Given the description of an element on the screen output the (x, y) to click on. 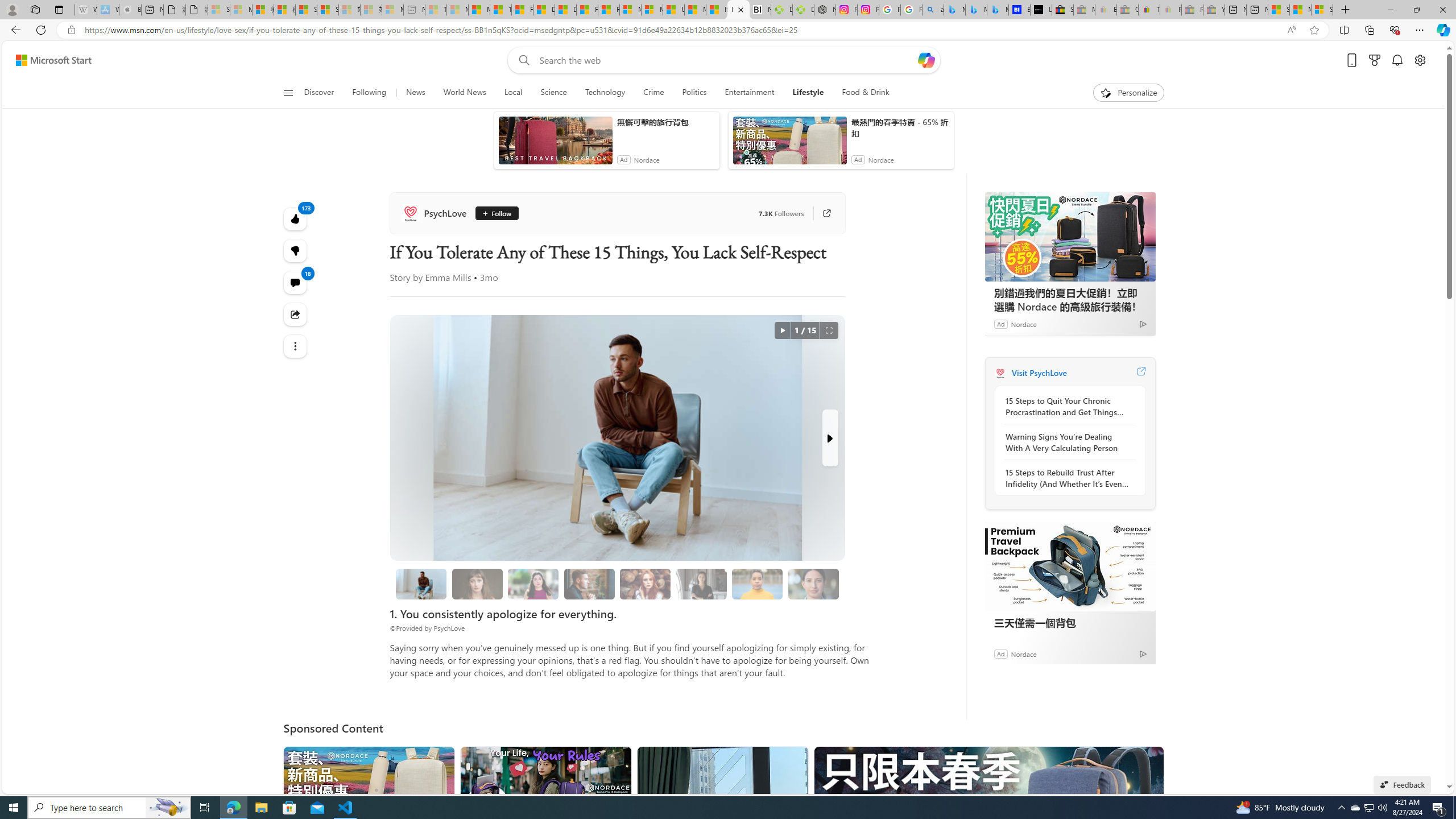
Skip to footer (46, 59)
alabama high school quarterback dies - Search (933, 9)
To get missing image descriptions, open the context menu. (1105, 92)
8. Surround yourself with solution-oriented people. (701, 583)
Food & Drink (865, 92)
Nordace - Nordace Edin Collection (824, 9)
US Heat Deaths Soared To Record High Last Year (673, 9)
